Given the description of an element on the screen output the (x, y) to click on. 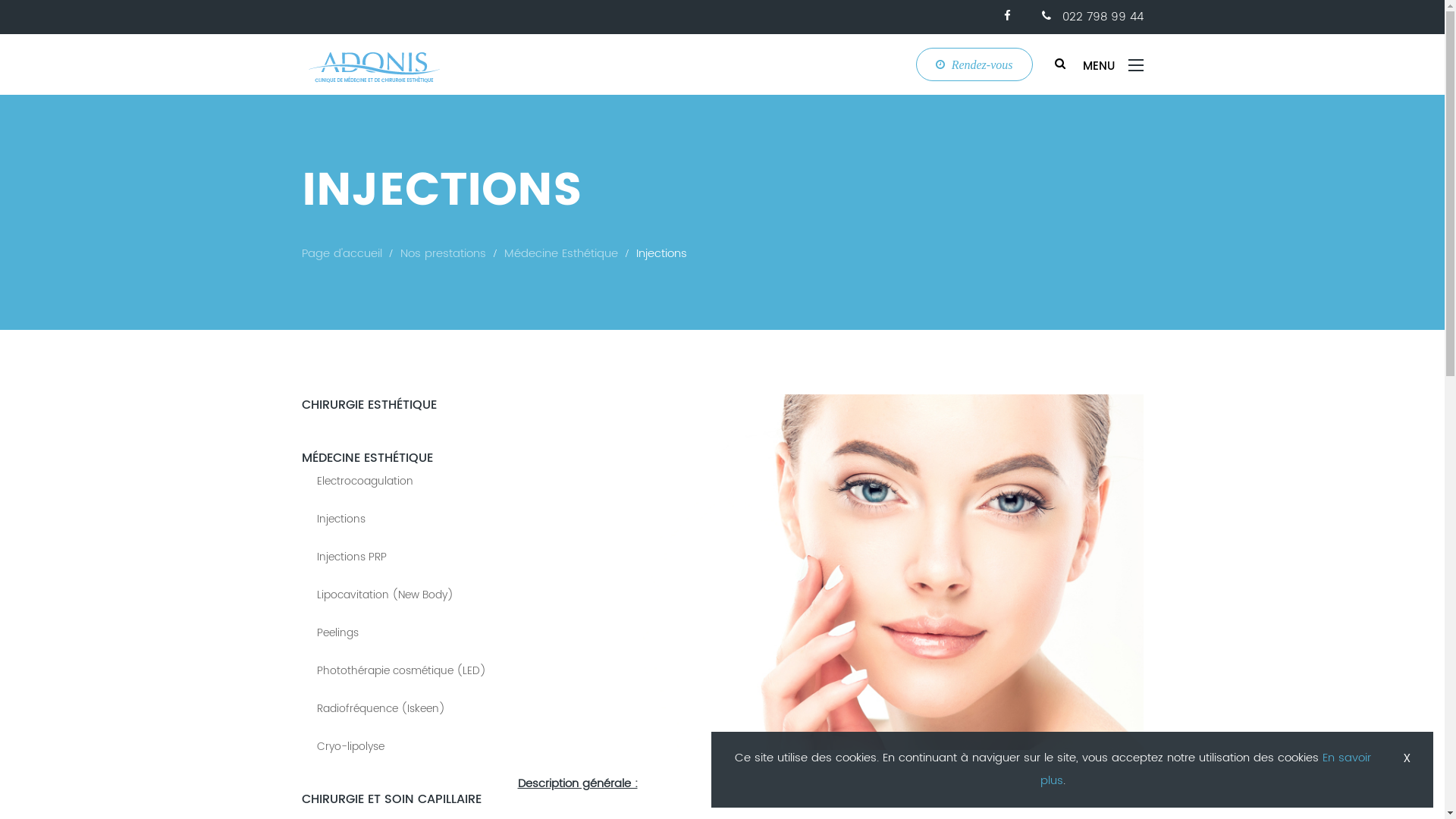
022 798 99 44 Element type: text (1092, 17)
Facebook Element type: hover (1007, 17)
Peelings Element type: text (337, 632)
Adonis Element type: hover (374, 63)
CHIRURGIE ET SOIN CAPILLAIRE Element type: text (391, 799)
Rechercher Element type: hover (1059, 64)
Lipocavitation (New Body) Element type: text (384, 594)
Page d'accueil Element type: text (341, 253)
Electrocoagulation Element type: text (364, 480)
En savoir plus Element type: text (1205, 769)
Injections PRP Element type: text (351, 556)
Cryo-lipolyse Element type: text (350, 746)
Injections Element type: text (340, 518)
Nos prestations Element type: text (443, 253)
Rendez-vous Element type: text (974, 64)
x Element type: text (1406, 757)
MENU Element type: text (1112, 64)
Injections Element type: text (661, 253)
